Given the description of an element on the screen output the (x, y) to click on. 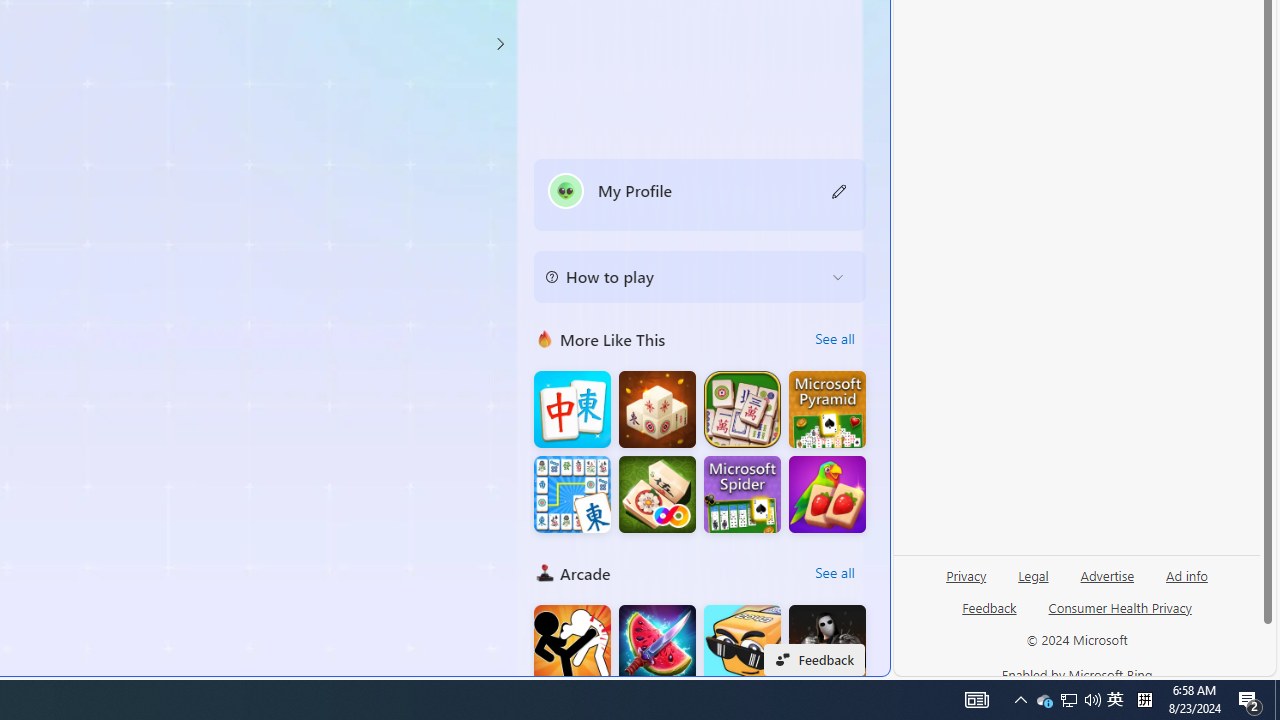
Daily Mahjong (742, 409)
Microsoft Pyramid Solitaire (827, 409)
Cubes2048 (742, 643)
Class: button edit-icon (839, 190)
More Like This (544, 338)
Hunter Hitman (827, 643)
Mahjong 3D Connect (657, 409)
